Given the description of an element on the screen output the (x, y) to click on. 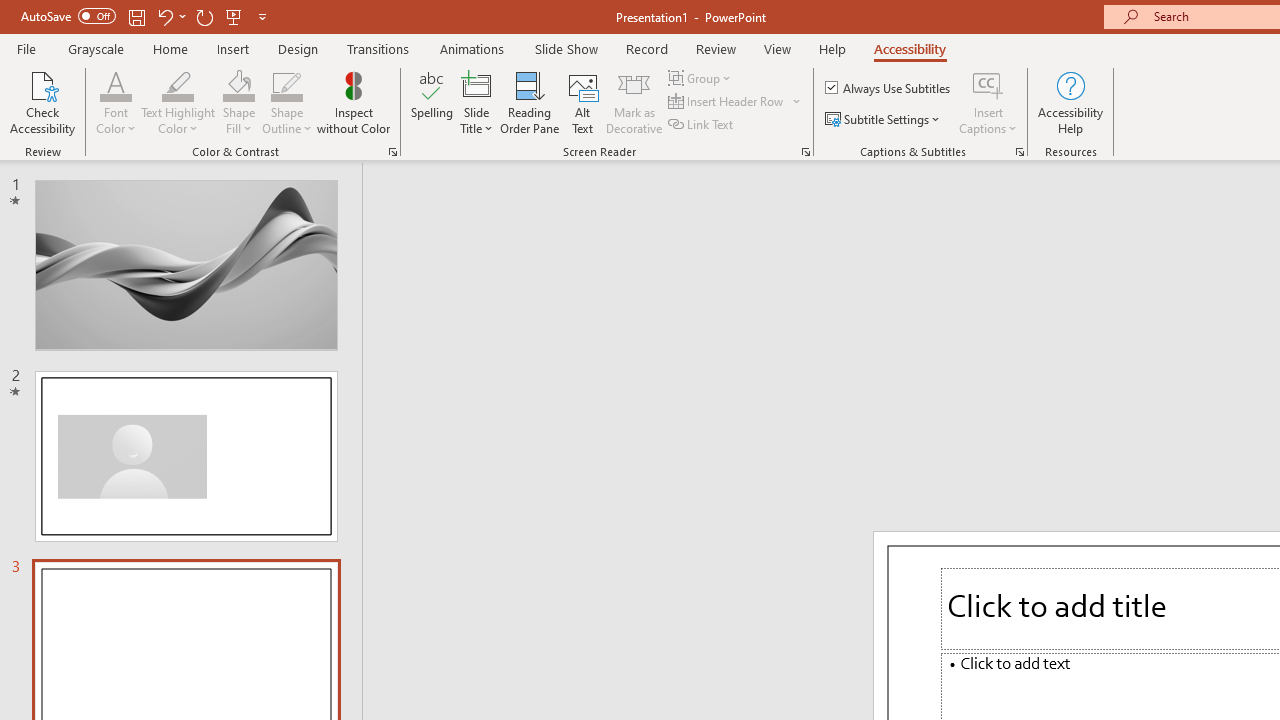
Slide Title (476, 102)
Accessibility Help (1070, 102)
Insert Header Row (727, 101)
Insert Header Row (735, 101)
Grayscale (96, 48)
Mark as Decorative (634, 102)
Subtitle Settings (884, 119)
